Given the description of an element on the screen output the (x, y) to click on. 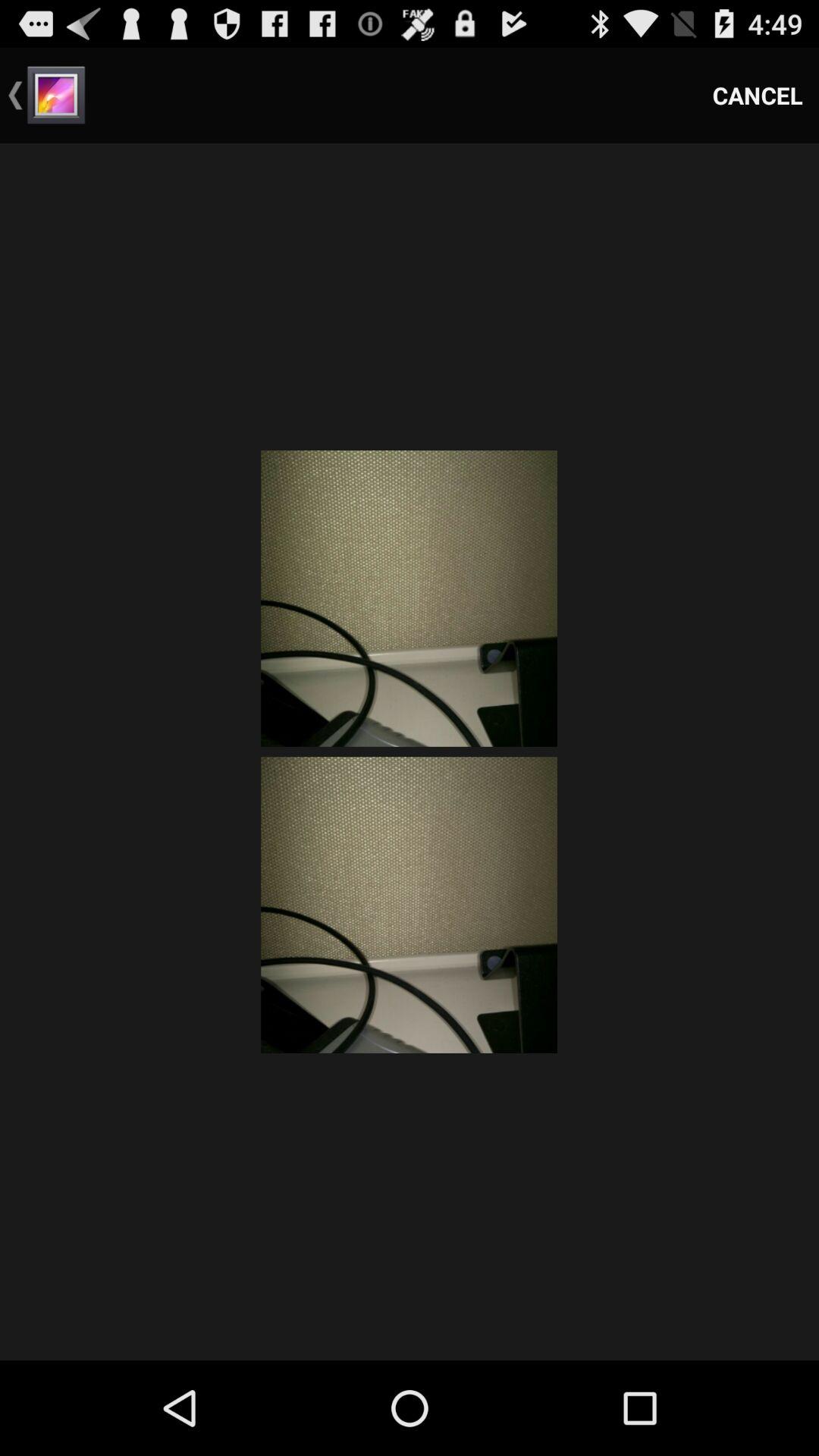
scroll to the cancel item (757, 95)
